Given the description of an element on the screen output the (x, y) to click on. 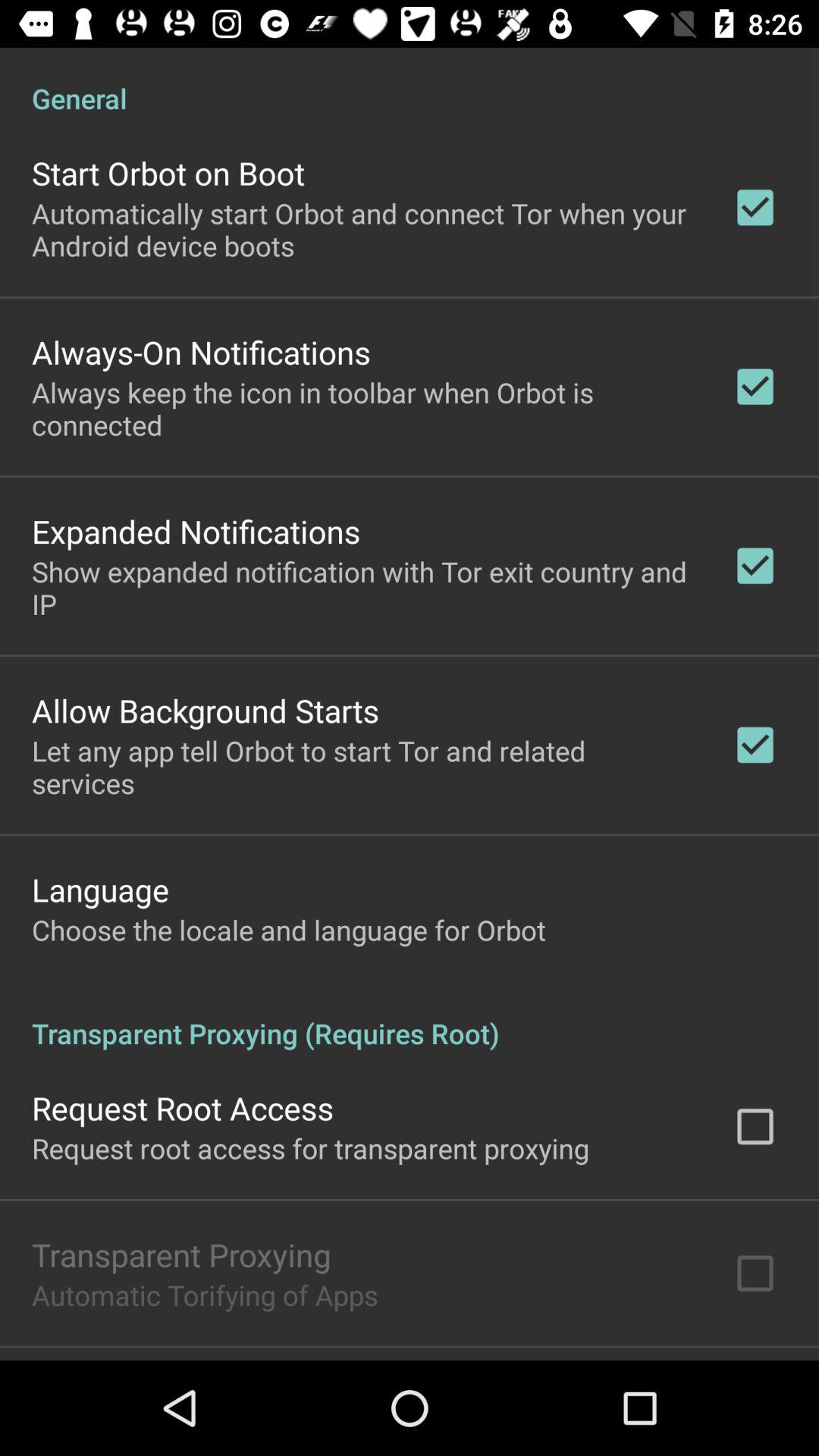
launch the icon below expanded notifications icon (361, 587)
